Given the description of an element on the screen output the (x, y) to click on. 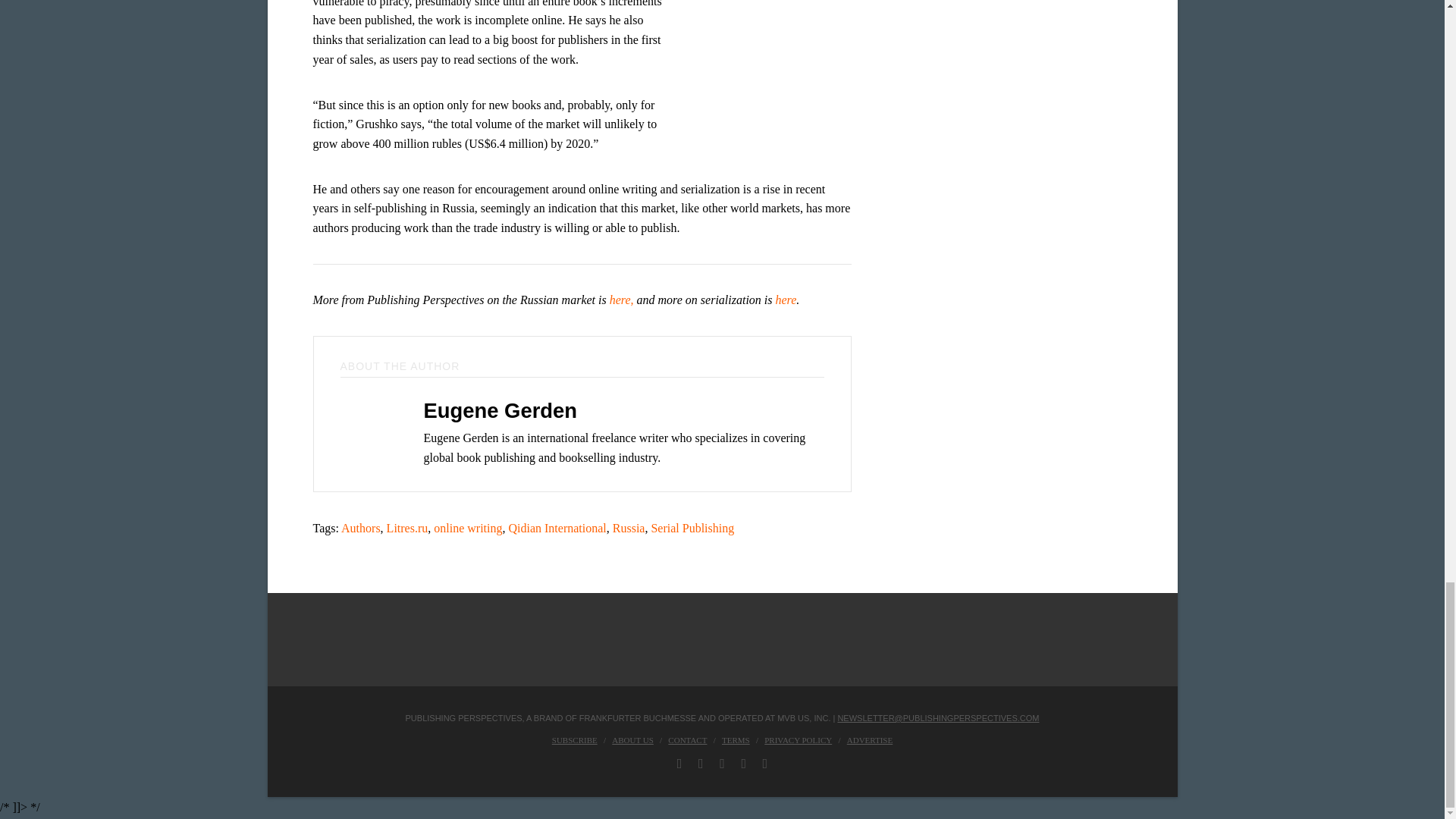
here (786, 299)
Subscribe to Publishing Perspectives (573, 739)
Litres.ru (407, 527)
here, (621, 299)
Authors (360, 527)
Terms and Conditions (735, 739)
